Given the description of an element on the screen output the (x, y) to click on. 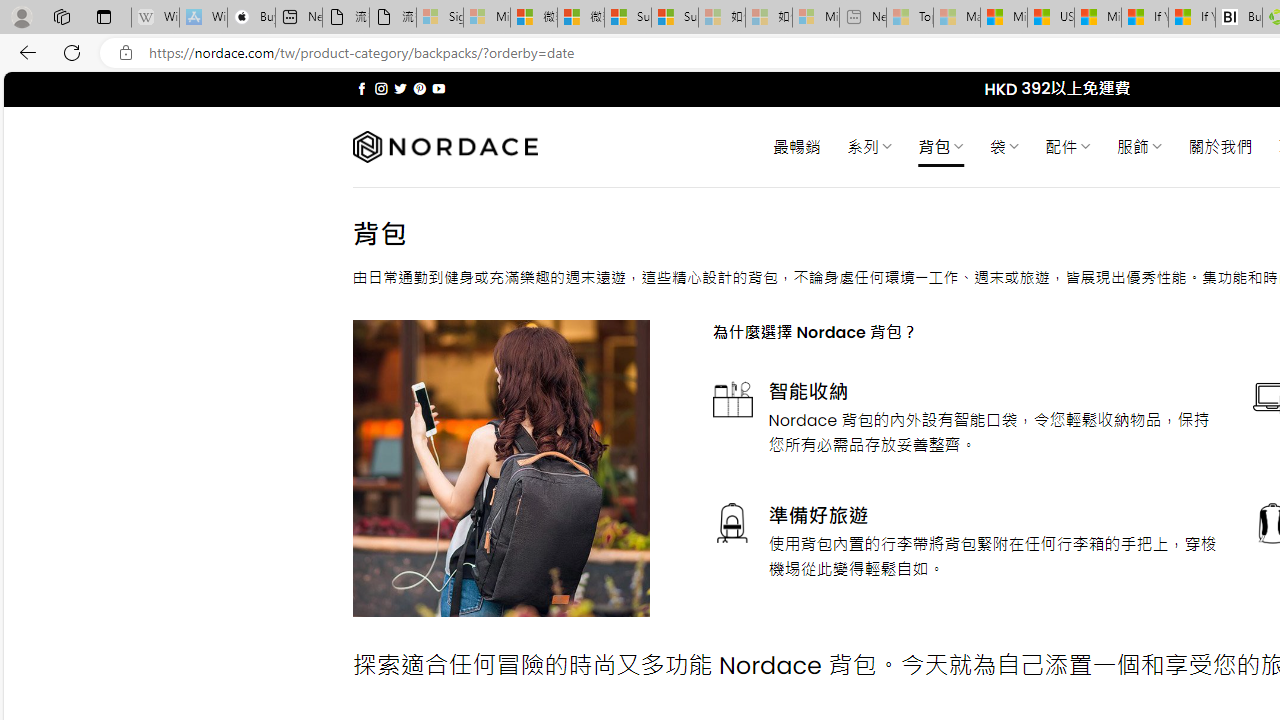
Follow on Facebook (361, 88)
Marine life - MSN - Sleeping (957, 17)
Follow on Pinterest (419, 88)
Sign in to your Microsoft account - Sleeping (440, 17)
Follow on YouTube (438, 88)
